Given the description of an element on the screen output the (x, y) to click on. 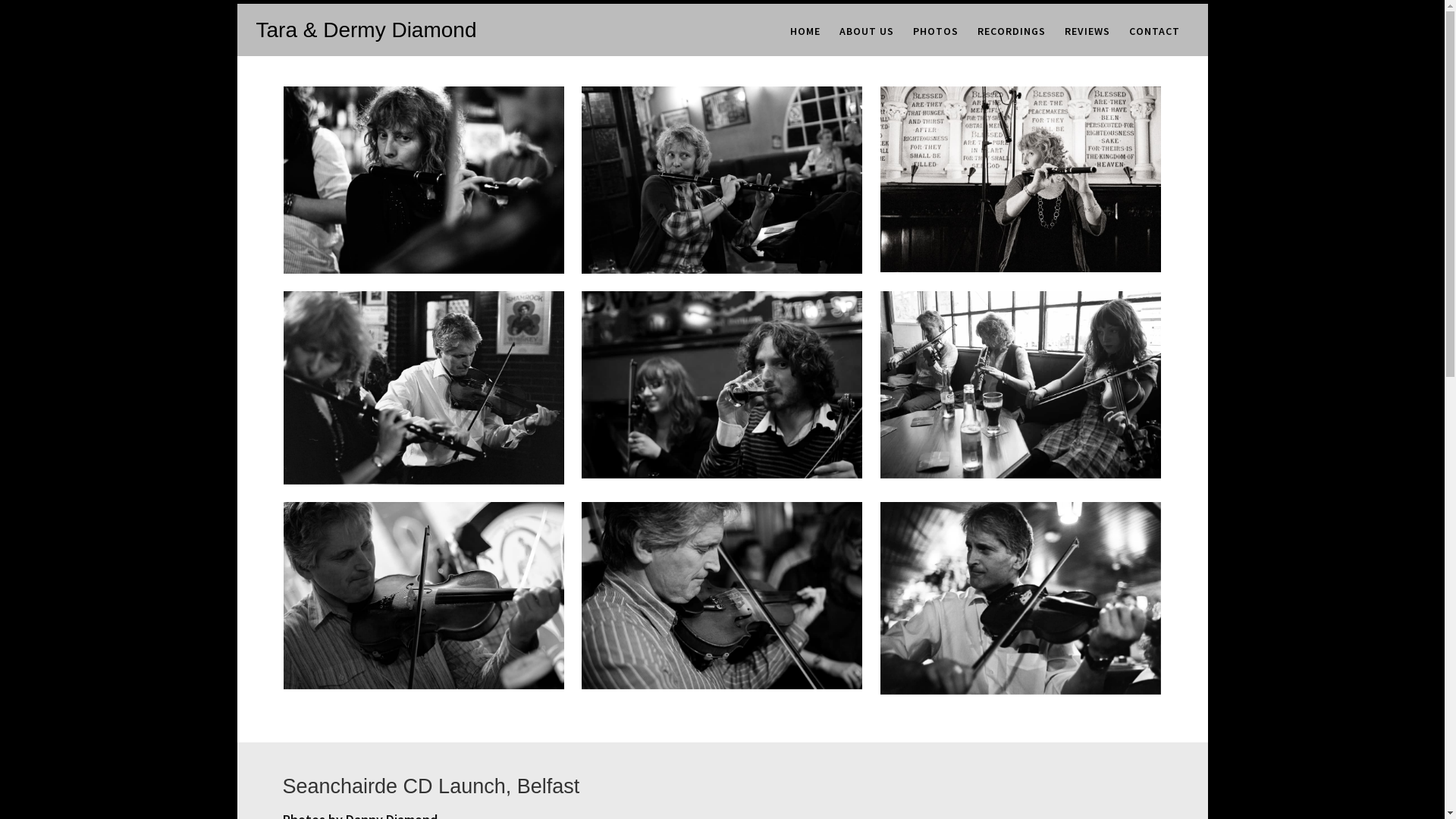
dermy-diamond-8834_photo-danny-diamond Element type: hover (423, 595)
HOME Element type: text (805, 30)
REVIEWS Element type: text (1087, 30)
RECORDINGS Element type: text (1011, 30)
Tara & Dermy Diamond Element type: text (366, 29)
CONTACT Element type: text (1154, 30)
tara-diamond-6155_photo-danny-diamond Element type: hover (423, 179)
tara-diamond-79_18_photo-danny-diamond Element type: hover (1020, 179)
ABOUT US Element type: text (866, 30)
dermy-diamond-1264_photo-danny-diamond Element type: hover (721, 595)
dermy-diamond-13_4_photo-danny-diamond Element type: hover (1020, 598)
tara-diamond-1131_photo-danny-diamond Element type: hover (721, 179)
dermy-tara-helen-diamond-0092_photo-danny-diamond Element type: hover (1020, 384)
PHOTOS Element type: text (935, 30)
helen-danny-diamond-4296 Element type: hover (721, 384)
tara-dermy-diamond-13_16_photo-danny-diamond Element type: hover (423, 387)
